Given the description of an element on the screen output the (x, y) to click on. 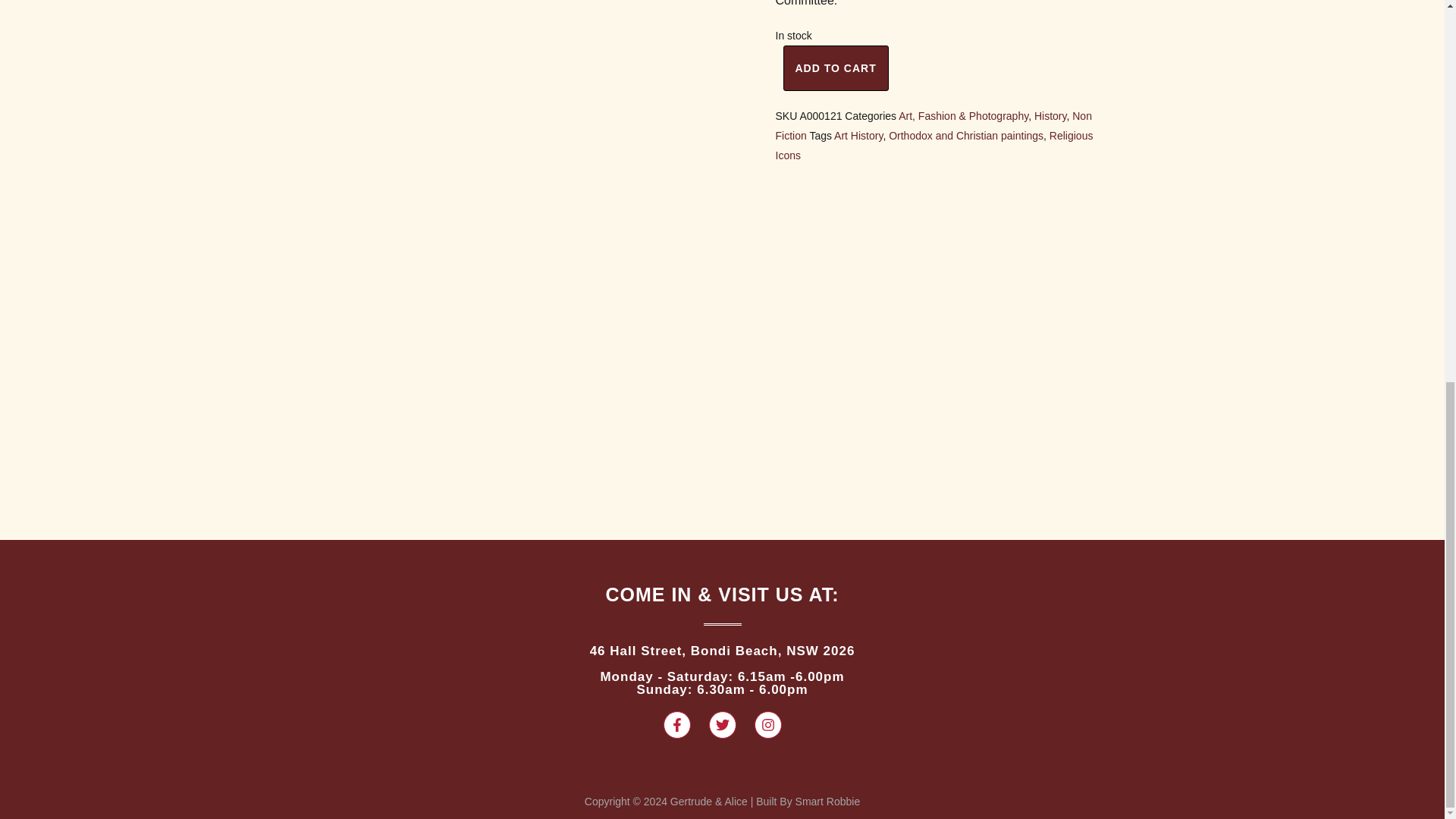
ADD TO CART (835, 67)
Religious Icons (933, 145)
History (1050, 115)
Art History (858, 135)
Non Fiction (932, 125)
Orthodox and Christian paintings (965, 135)
Smart Robbie (827, 801)
